Given the description of an element on the screen output the (x, y) to click on. 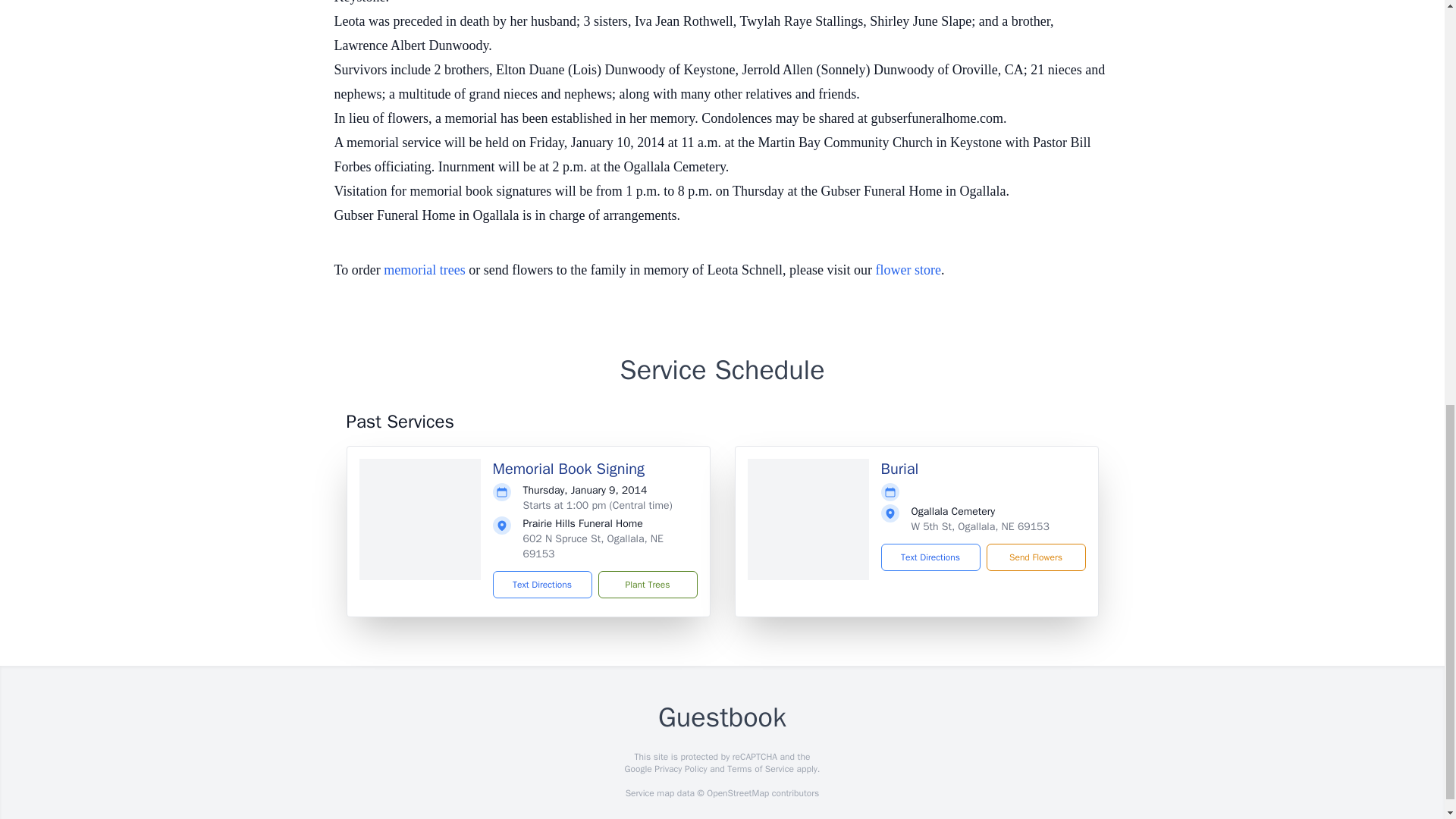
Privacy Policy (679, 768)
Send Flowers (1034, 556)
W 5th St, Ogallala, NE 69153 (980, 526)
memorial trees (424, 269)
Text Directions (929, 556)
602 N Spruce St, Ogallala, NE 69153 (592, 546)
flower store (908, 269)
OpenStreetMap (737, 793)
Text Directions (542, 584)
Terms of Service (759, 768)
